Given the description of an element on the screen output the (x, y) to click on. 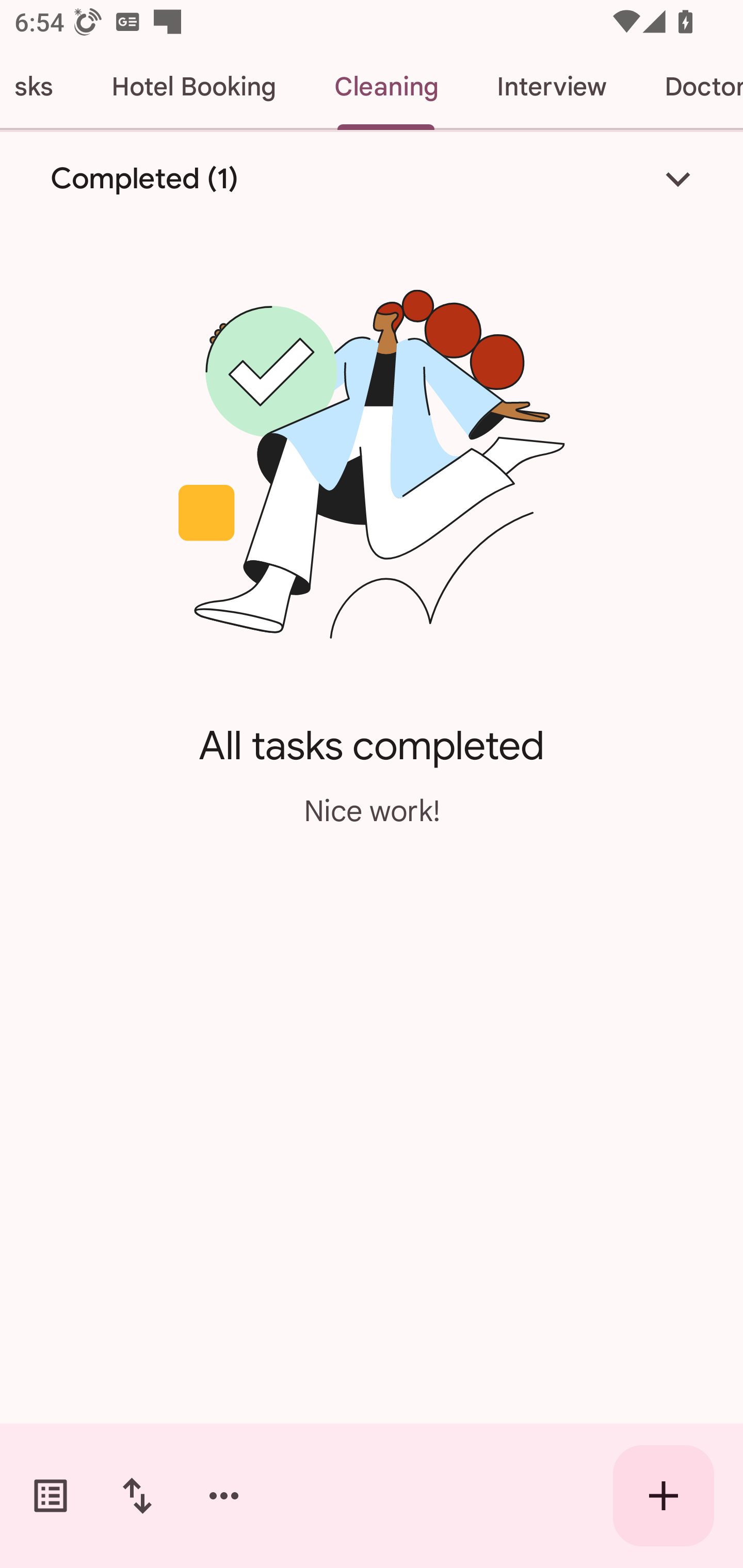
Hotel Booking (192, 86)
Interview (551, 86)
Doctor Appointment (689, 86)
Completed (1) (371, 178)
Switch task lists (50, 1495)
Create new task (663, 1495)
Change sort order (136, 1495)
More options (223, 1495)
